Given the description of an element on the screen output the (x, y) to click on. 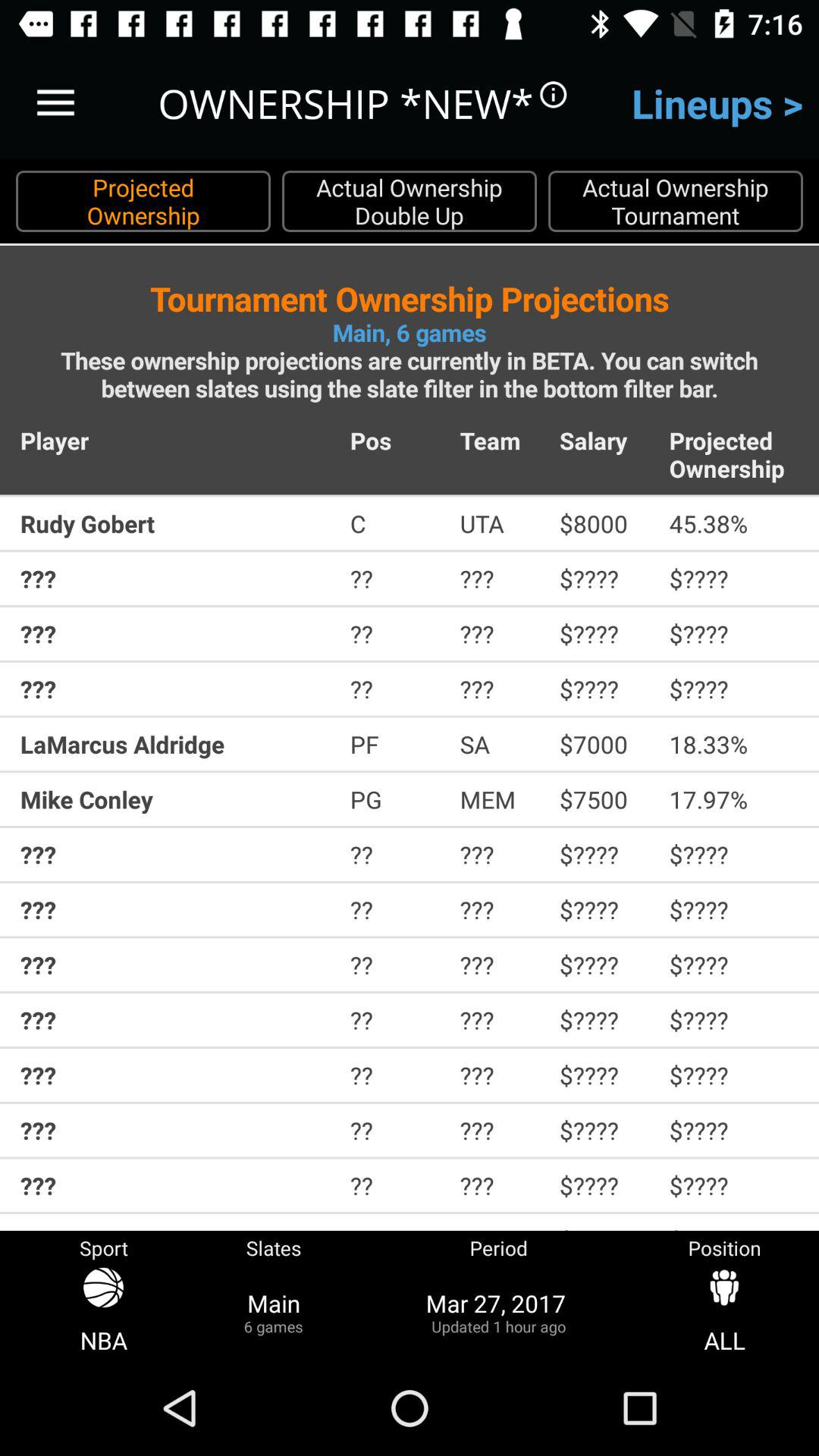
select icon next to the uta (604, 523)
